Given the description of an element on the screen output the (x, y) to click on. 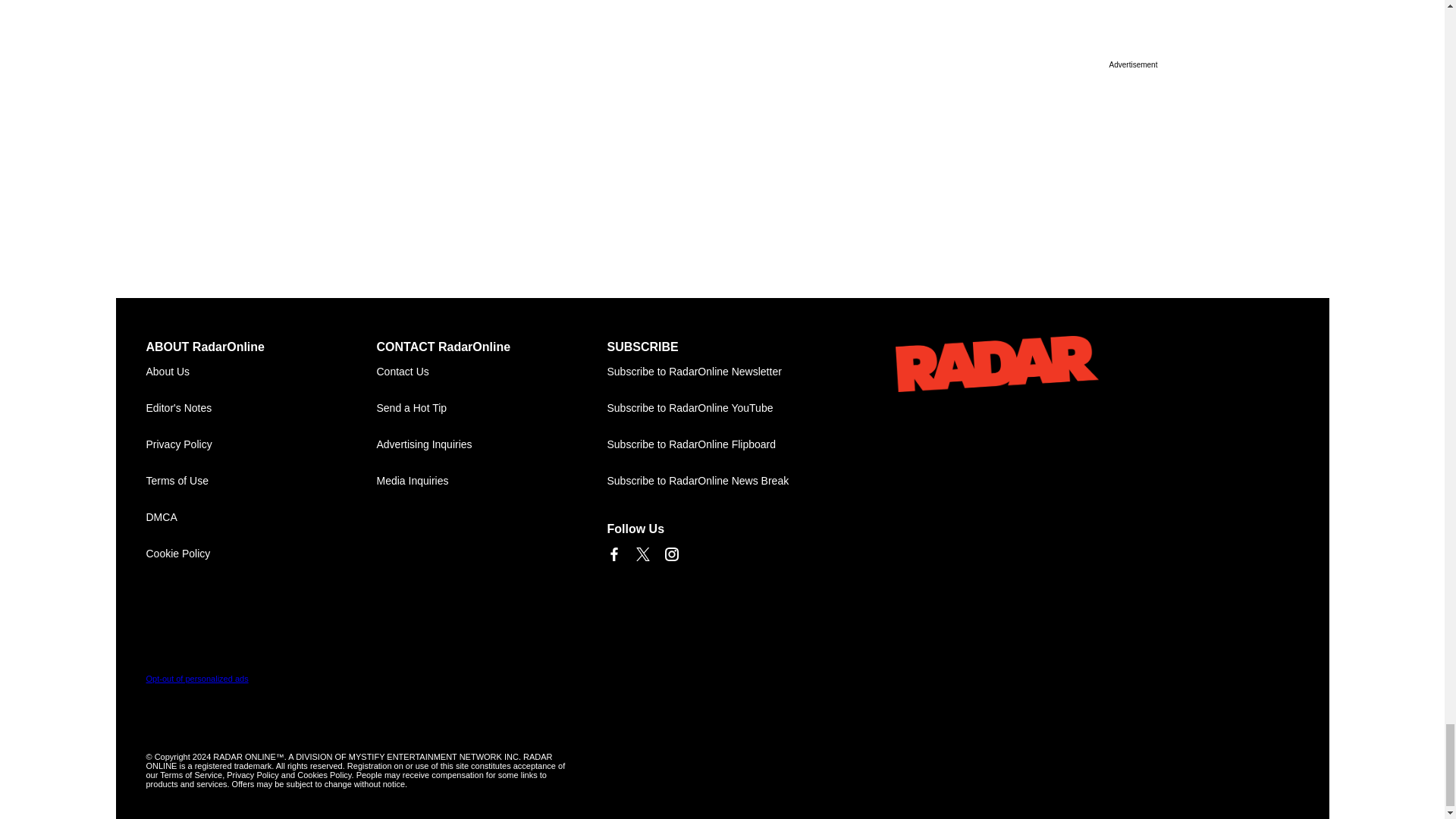
Editor's Notes (260, 408)
Contact Us (491, 371)
Media Inquiries (491, 481)
Subscribe to RadarOnline YouTube (722, 408)
Subscribe (722, 371)
Subscribe to RadarOnline on YouTube (722, 408)
Subscribe to RadarOnline Newsletter (722, 371)
Subscribe to RadarOnline Flipboard (722, 444)
Advertising Inquiries (491, 444)
Send a Hot Tip (491, 408)
